Given the description of an element on the screen output the (x, y) to click on. 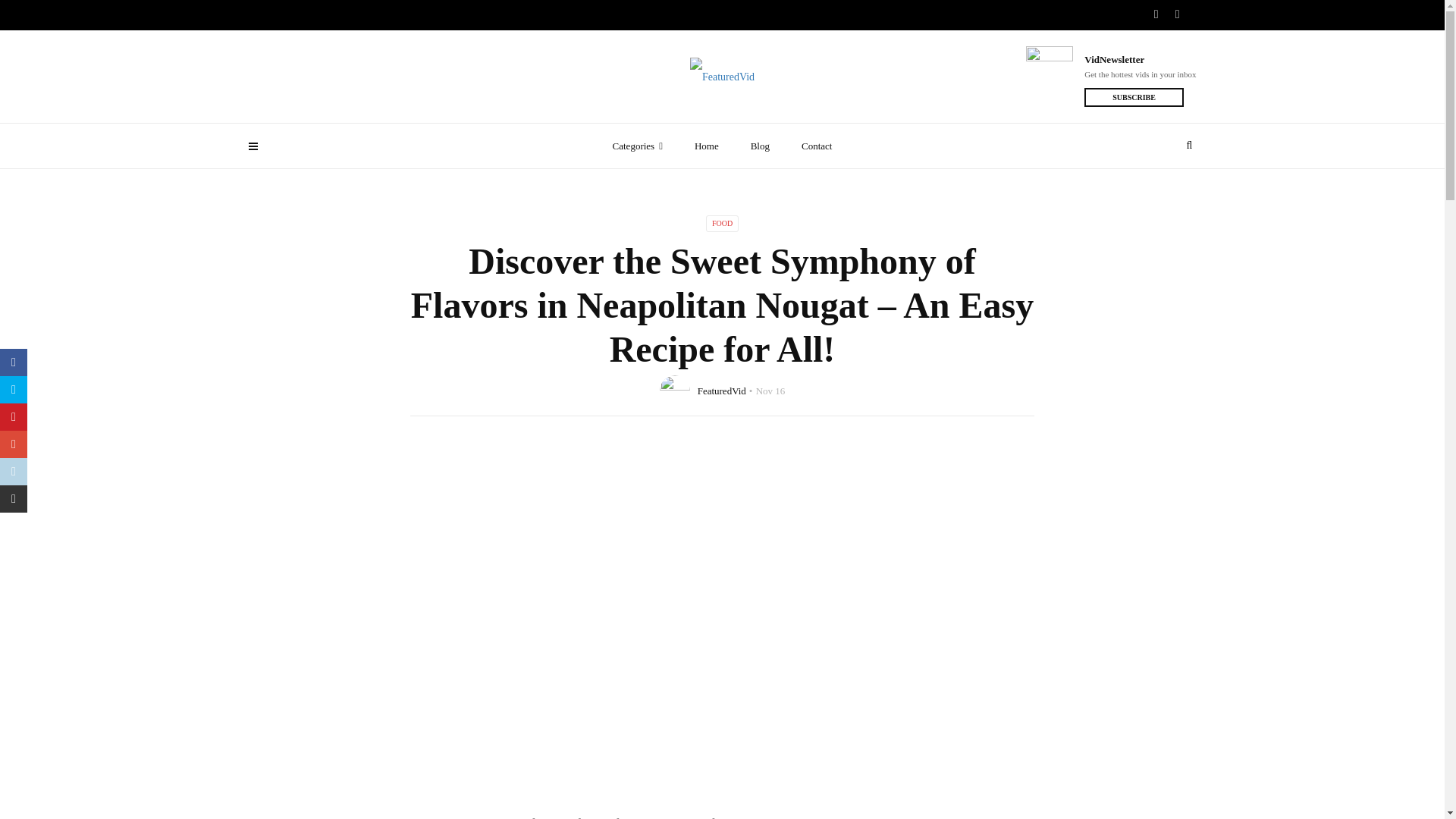
FOOD (722, 223)
FeaturedVid (721, 390)
Categories (637, 145)
VidNewsletter (1139, 59)
Contact (816, 145)
Home (706, 145)
Blog (760, 145)
SUBSCRIBE (1133, 97)
